Given the description of an element on the screen output the (x, y) to click on. 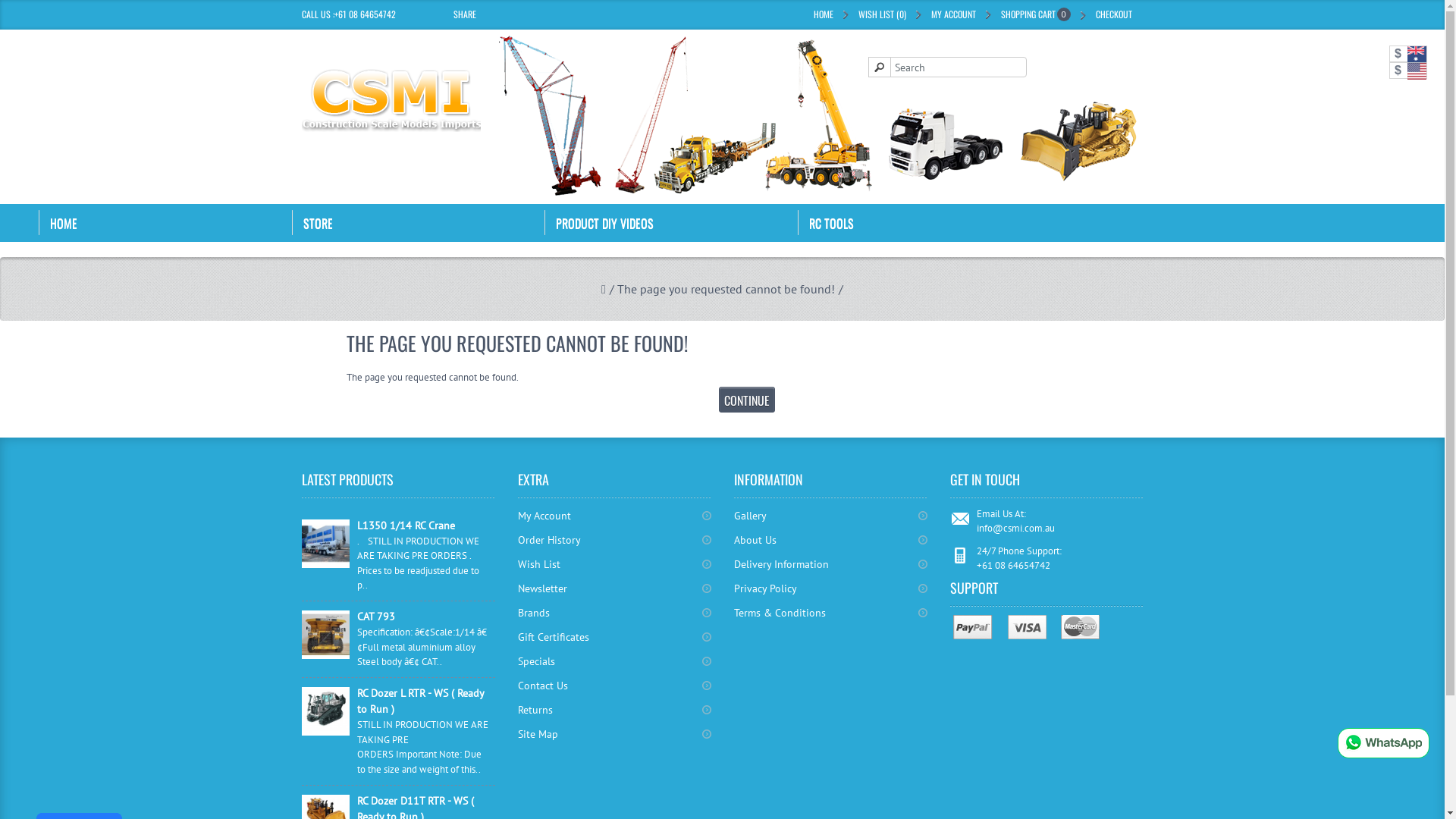
The page you requested cannot be found! Element type: text (727, 288)
My Account Element type: text (613, 515)
L1350 1/14 RC Crane Element type: text (422, 525)
CALL US Element type: text (315, 13)
MY ACCOUNT Element type: text (953, 13)
Terms & Conditions Element type: text (830, 612)
Returns Element type: text (613, 709)
HOME Element type: text (164, 222)
Delivery Information Element type: text (830, 564)
Contact Us Element type: text (613, 685)
CAT 793 Element type: hover (325, 634)
Site Map Element type: text (613, 733)
Gift Certificates Element type: text (613, 636)
$ Element type: text (1408, 53)
CSMI Element type: hover (390, 99)
$ Element type: text (1408, 70)
CONTINUE Element type: text (746, 399)
About Us Element type: text (830, 539)
Wish List Element type: text (613, 564)
Gallery Element type: text (830, 515)
RC Dozer L  RTR - WS ( Ready to Run ) Element type: hover (325, 711)
0 Element type: text (1062, 15)
CHECKOUT Element type: text (1113, 13)
RC TOOLS Element type: text (924, 222)
info@csmi.com.au Element type: text (1015, 527)
SHOPPING CART
0 Element type: text (1035, 13)
Privacy Policy Element type: text (830, 588)
STORE Element type: text (418, 222)
RC Dozer L RTR - WS ( Ready to Run ) Element type: text (422, 701)
WISH LIST (0) Element type: text (882, 13)
Newsletter Element type: text (613, 588)
HOME Element type: text (822, 13)
Order History Element type: text (613, 539)
L1350 1/14 RC Crane Element type: hover (325, 543)
CAT 793 Element type: text (422, 616)
PRODUCT DIY VIDEOS Element type: text (670, 222)
Brands Element type: text (613, 612)
Specials Element type: text (613, 661)
